Given the description of an element on the screen output the (x, y) to click on. 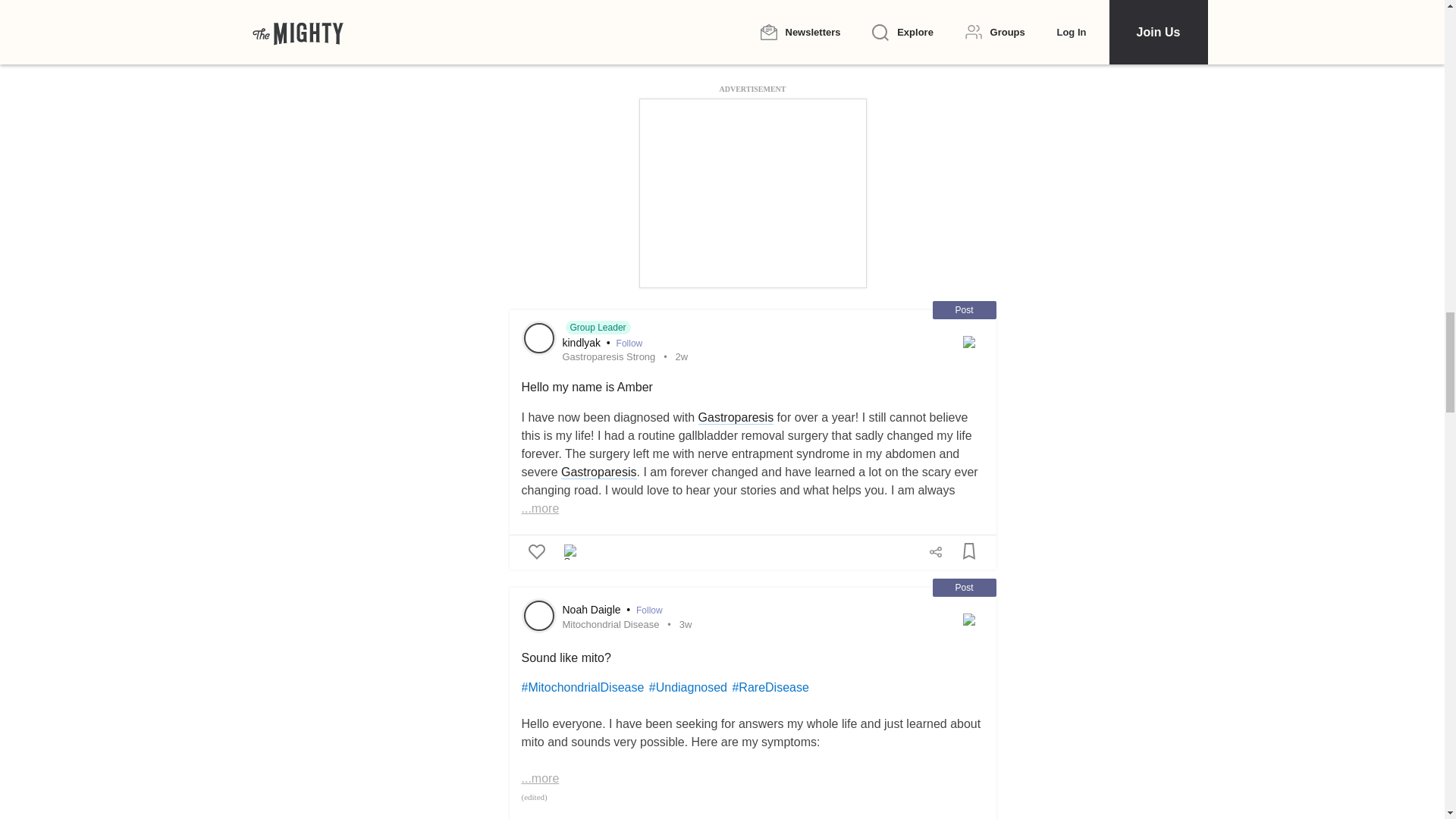
August 14, 2024 (681, 356)
Gastroparesis (736, 418)
Visit kindlyak's profile (537, 337)
